Given the description of an element on the screen output the (x, y) to click on. 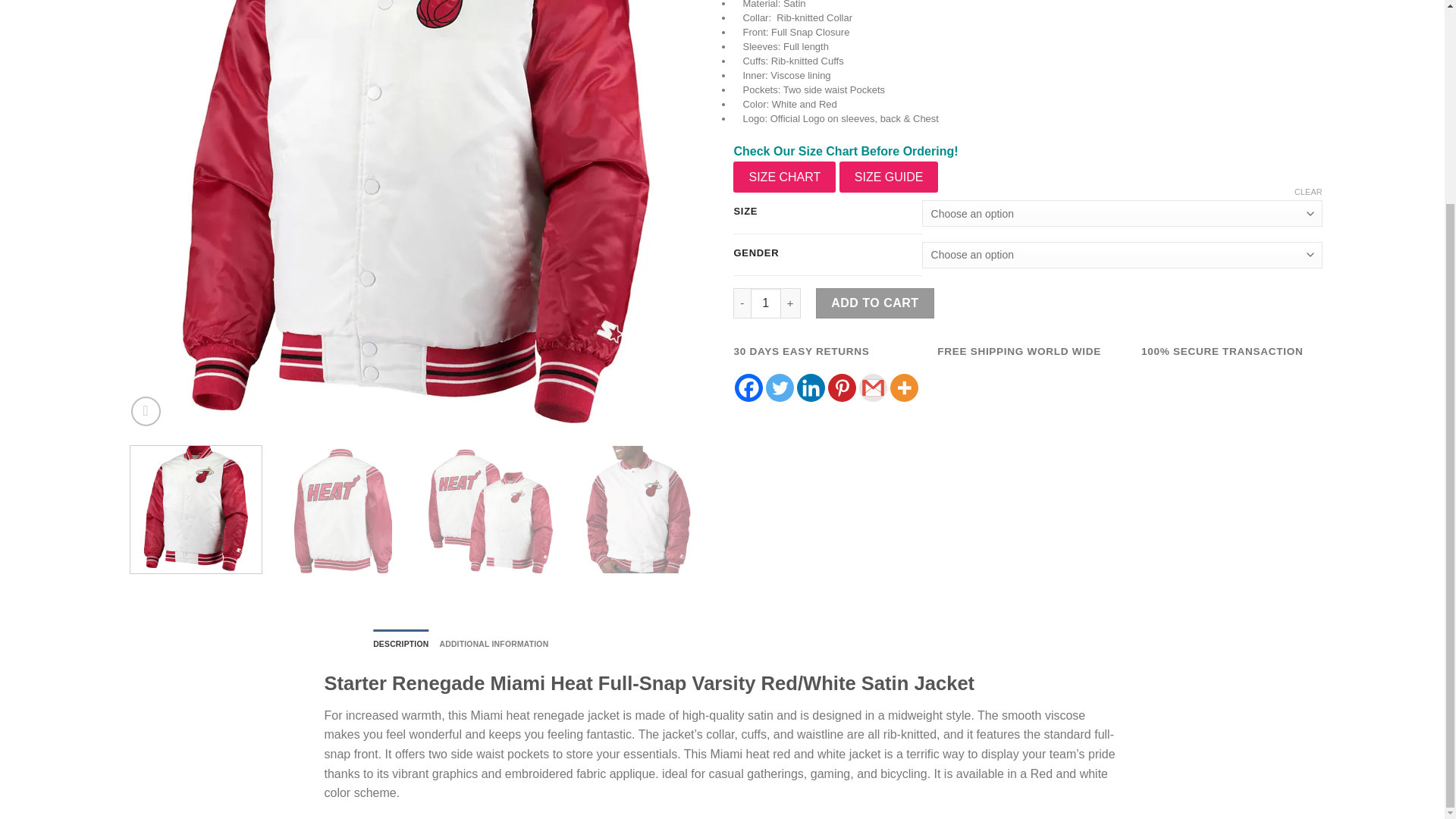
1 (765, 303)
